Given the description of an element on the screen output the (x, y) to click on. 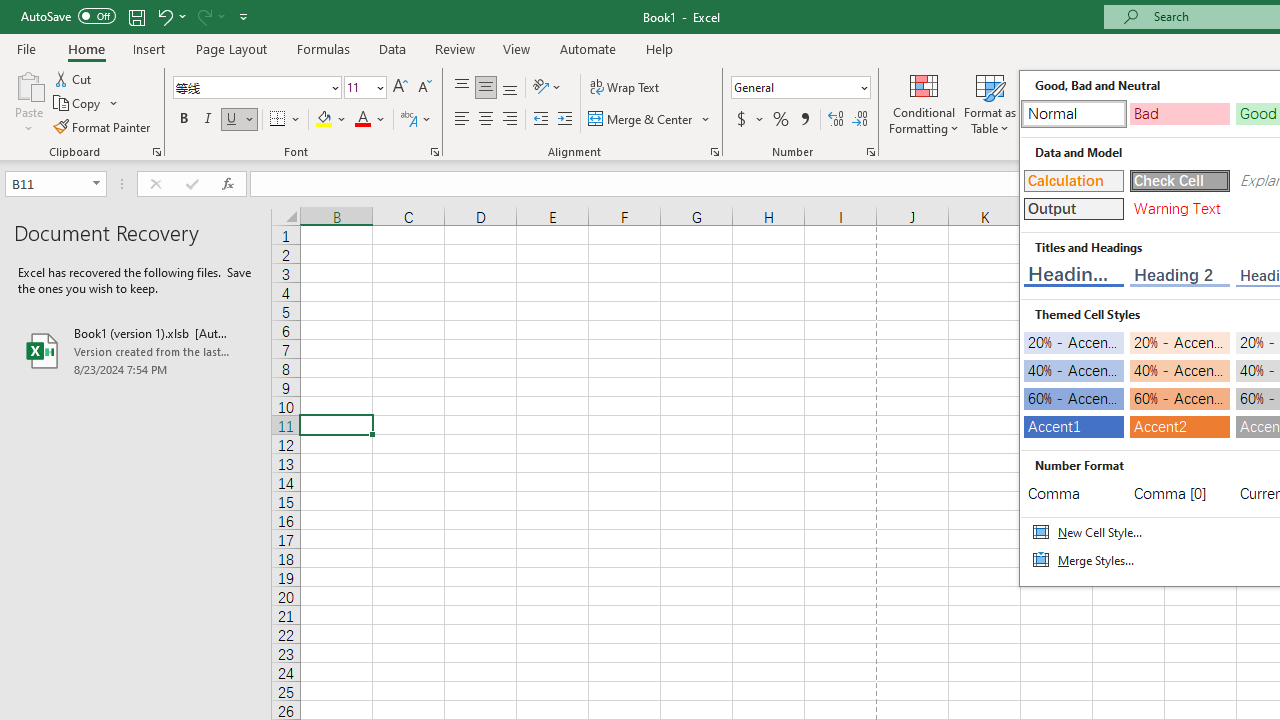
Show Phonetic Field (408, 119)
Cut (73, 78)
Font Size (358, 87)
Accounting Number Format (749, 119)
Merge & Center (649, 119)
Merge & Center (641, 119)
Increase Font Size (399, 87)
Increase Indent (565, 119)
Format as Table (990, 102)
Copy (85, 103)
